Given the description of an element on the screen output the (x, y) to click on. 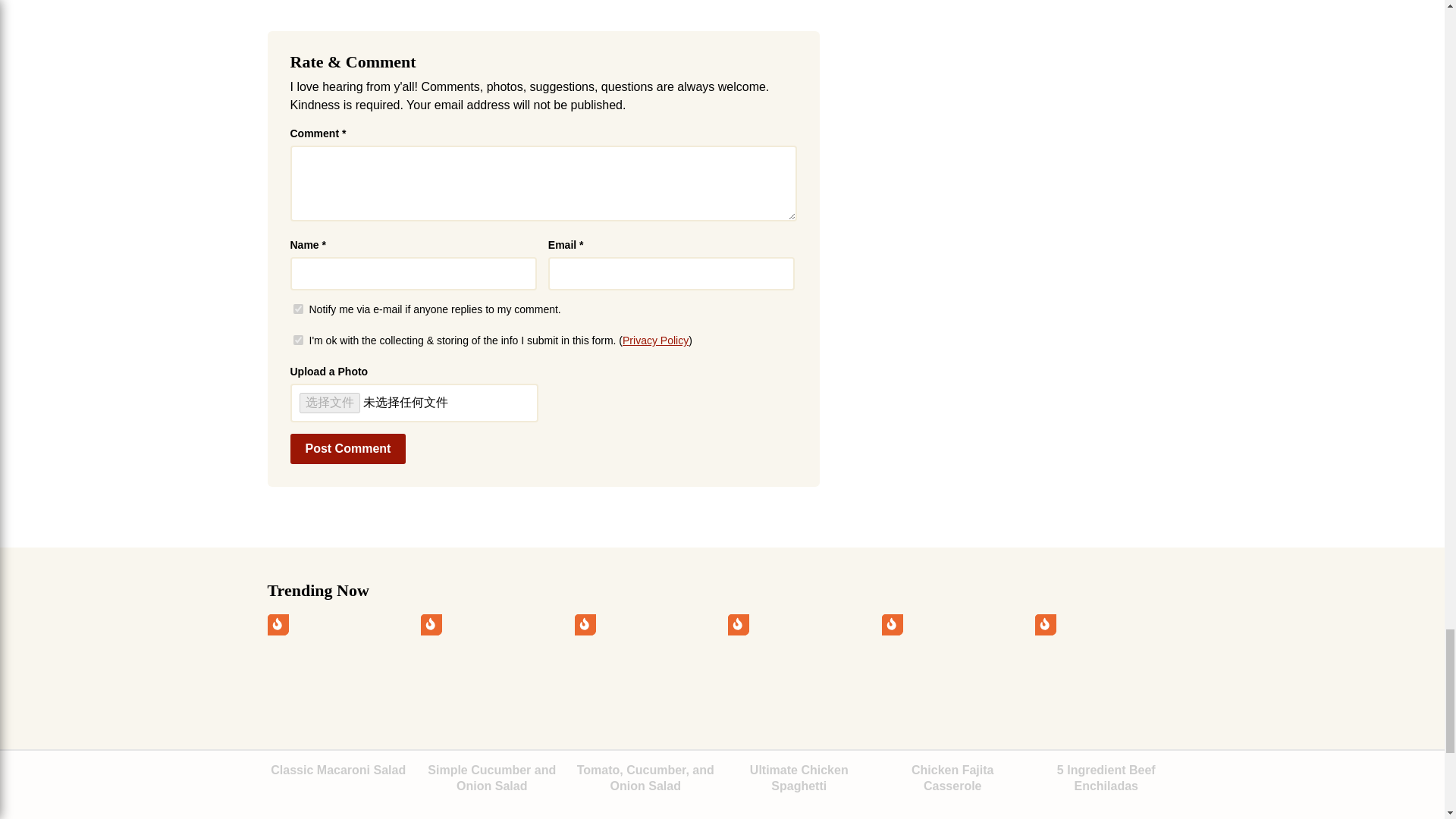
yes (297, 339)
Post Comment (347, 449)
on (297, 308)
Privacy Policy (655, 340)
